Given the description of an element on the screen output the (x, y) to click on. 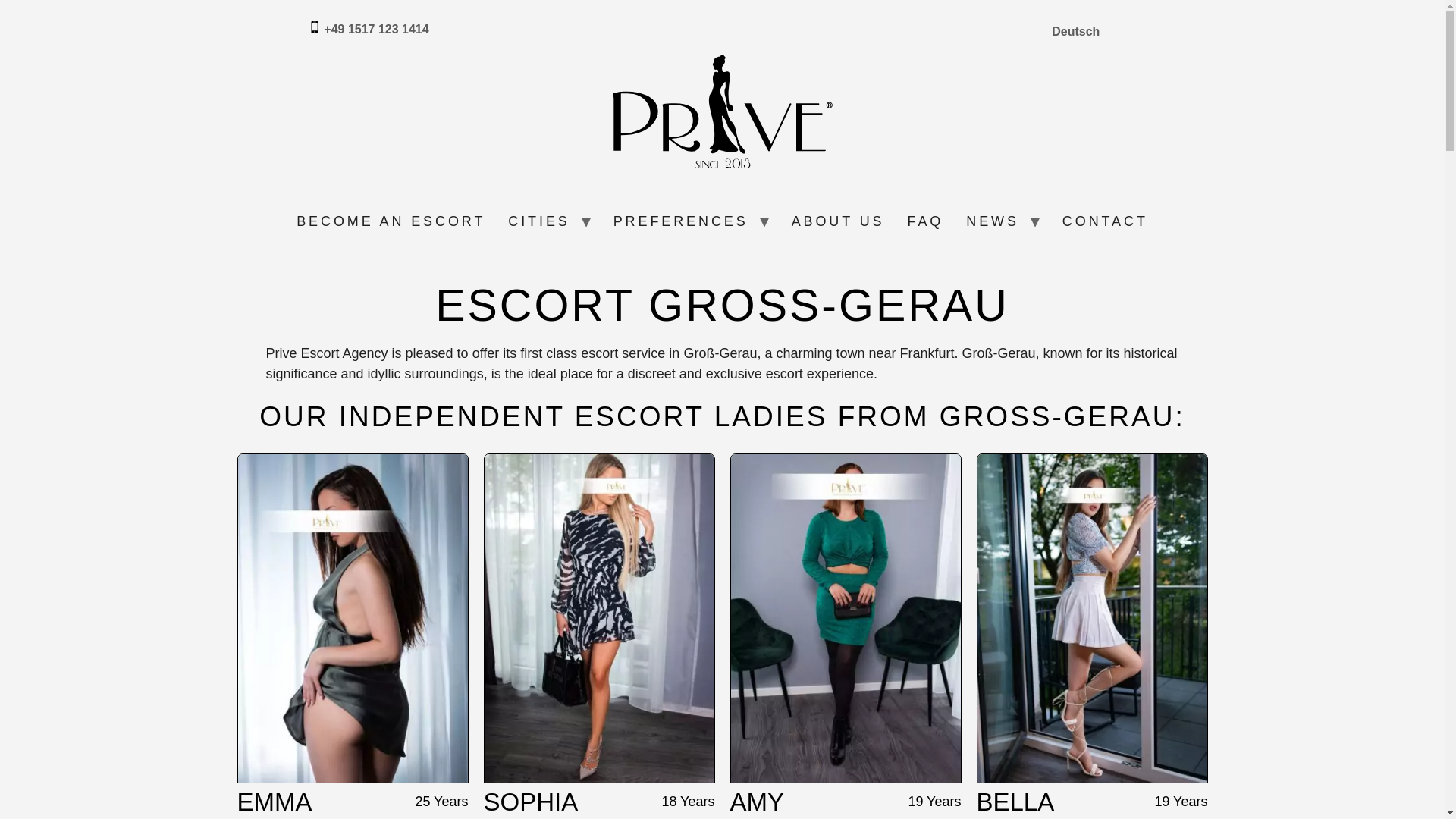
FAQ (925, 221)
CITIES (538, 221)
CONTACT (1104, 221)
PREFERENCES (681, 221)
Deutsch (1074, 31)
NEWS (992, 221)
ABOUT US (838, 221)
BECOME AN ESCORT (390, 221)
